Given the description of an element on the screen output the (x, y) to click on. 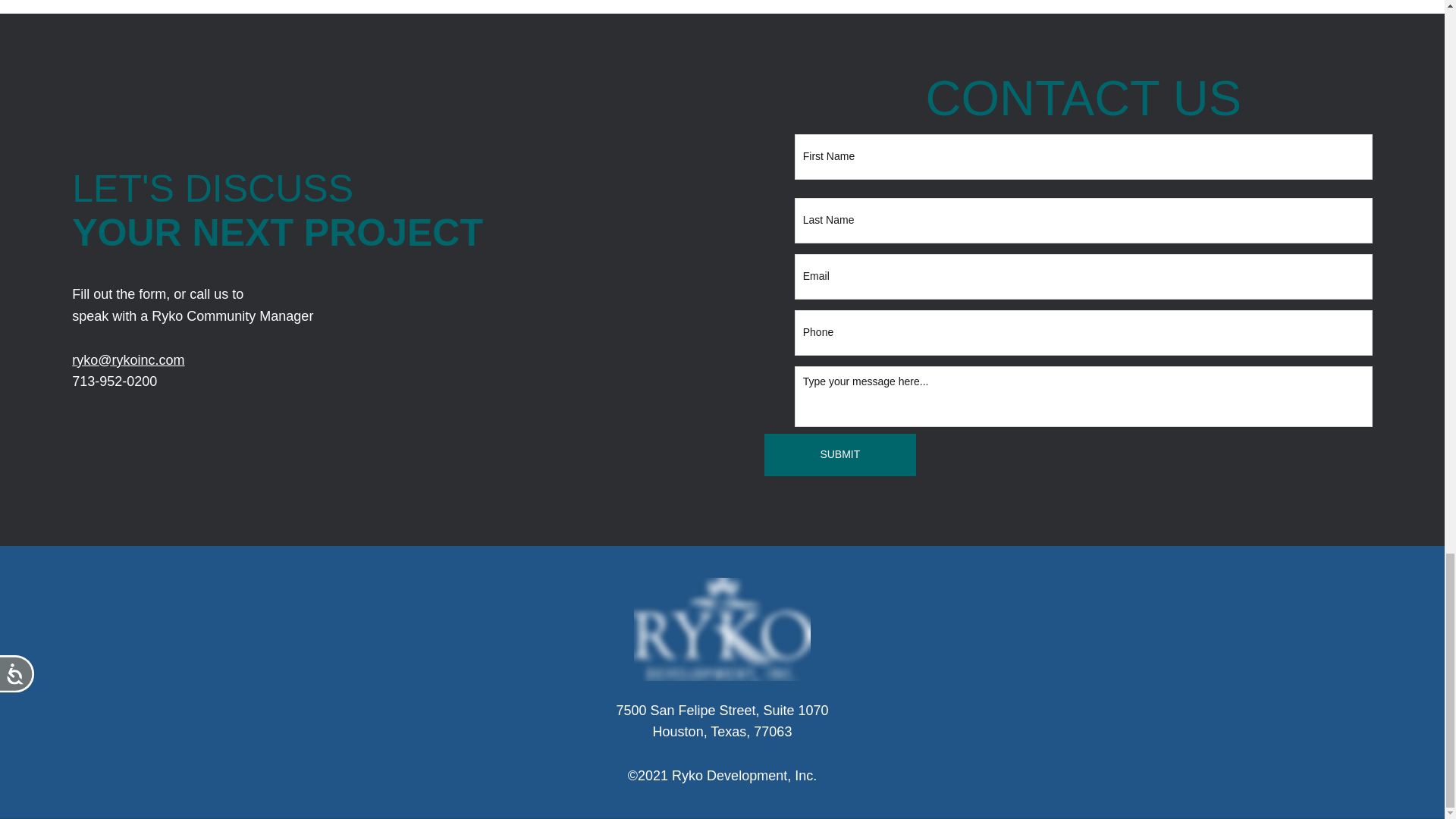
SUBMIT (839, 454)
